Given the description of an element on the screen output the (x, y) to click on. 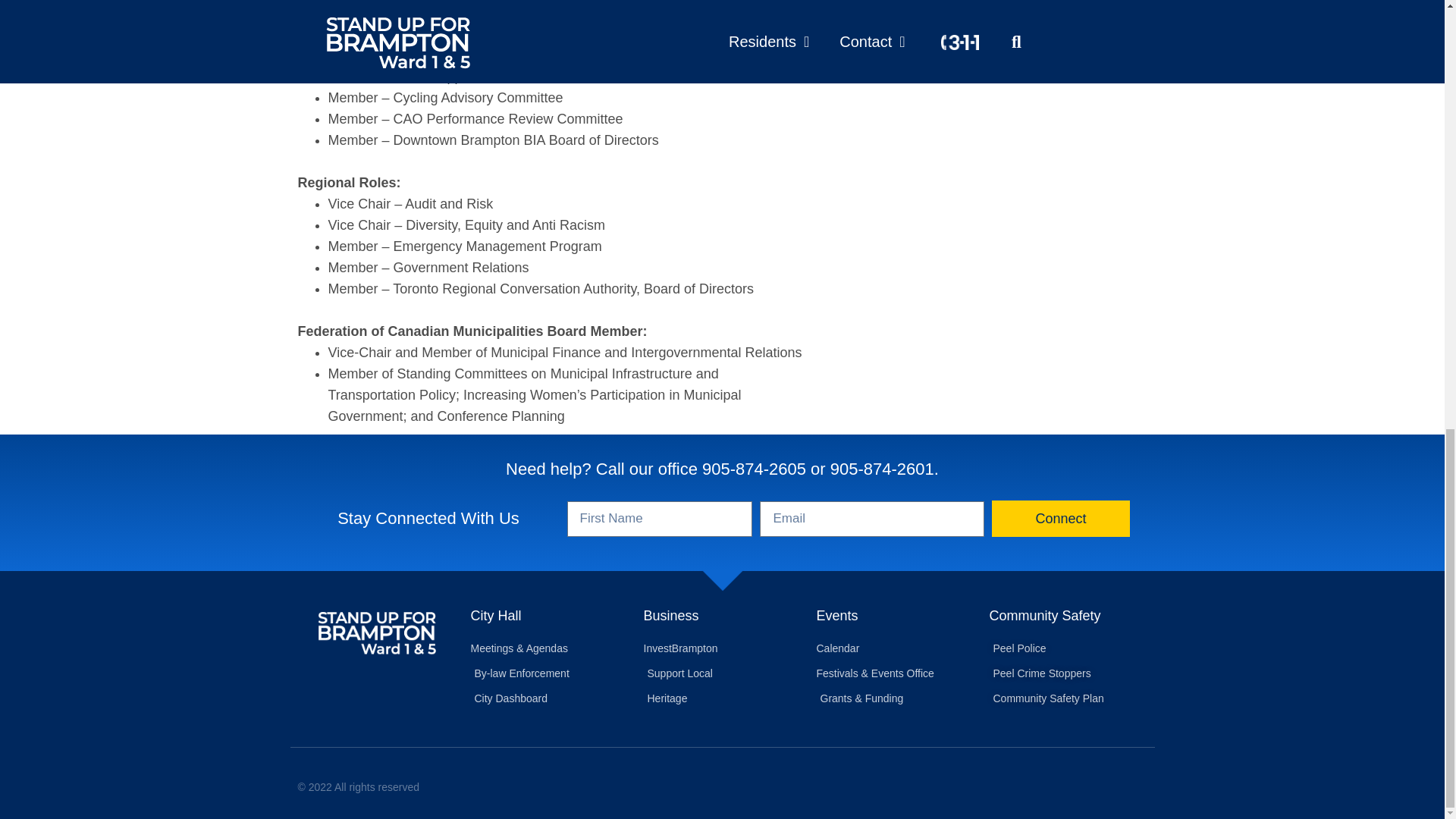
Connect (1060, 518)
